Given the description of an element on the screen output the (x, y) to click on. 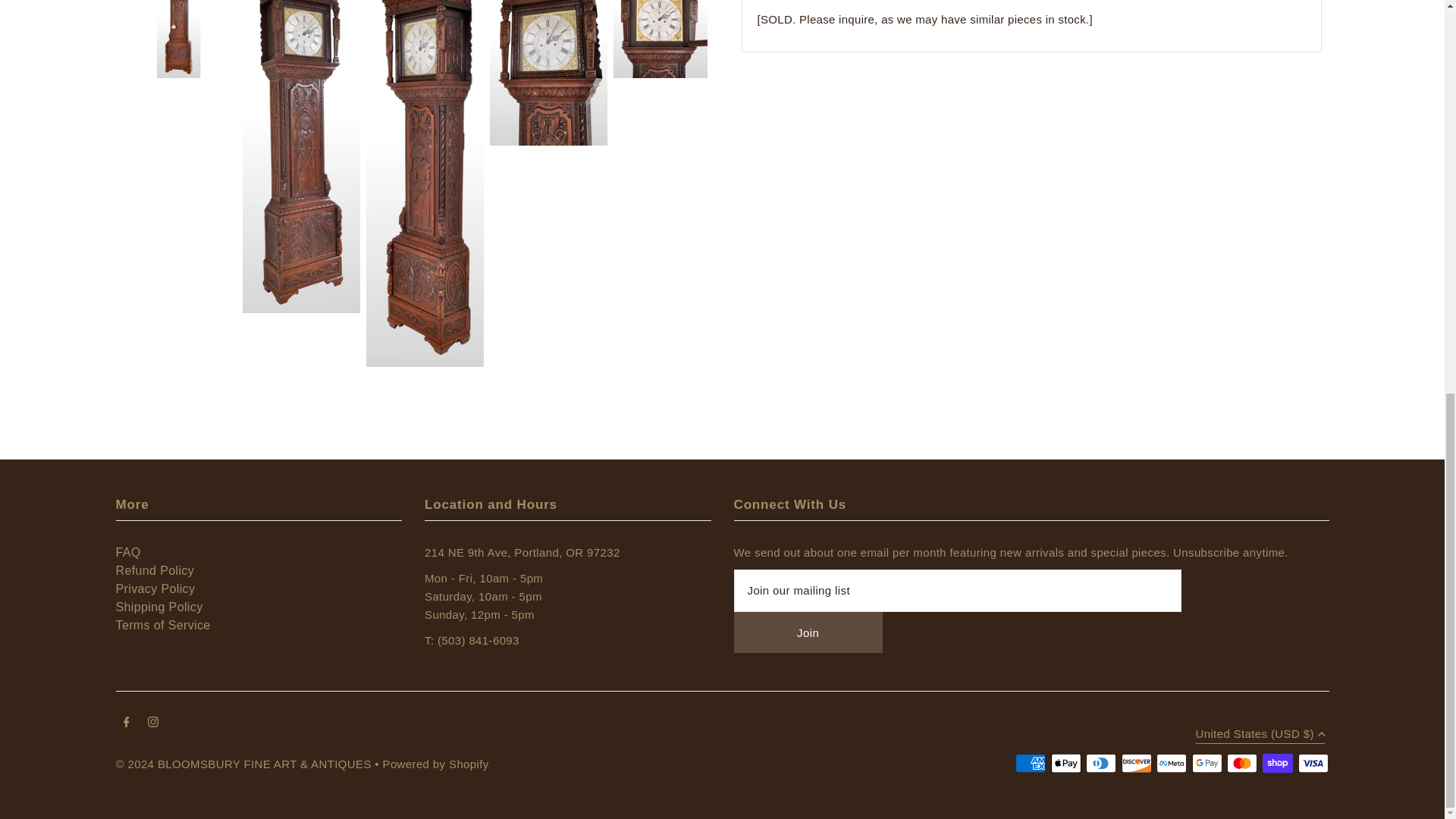
Google Pay (1207, 763)
Shop Pay (1277, 763)
Meta Pay (1171, 763)
Visa (1312, 763)
Discover (1136, 763)
Mastercard (1242, 763)
Apple Pay (1066, 763)
American Express (1029, 763)
Diners Club (1101, 763)
Join (807, 631)
